Given the description of an element on the screen output the (x, y) to click on. 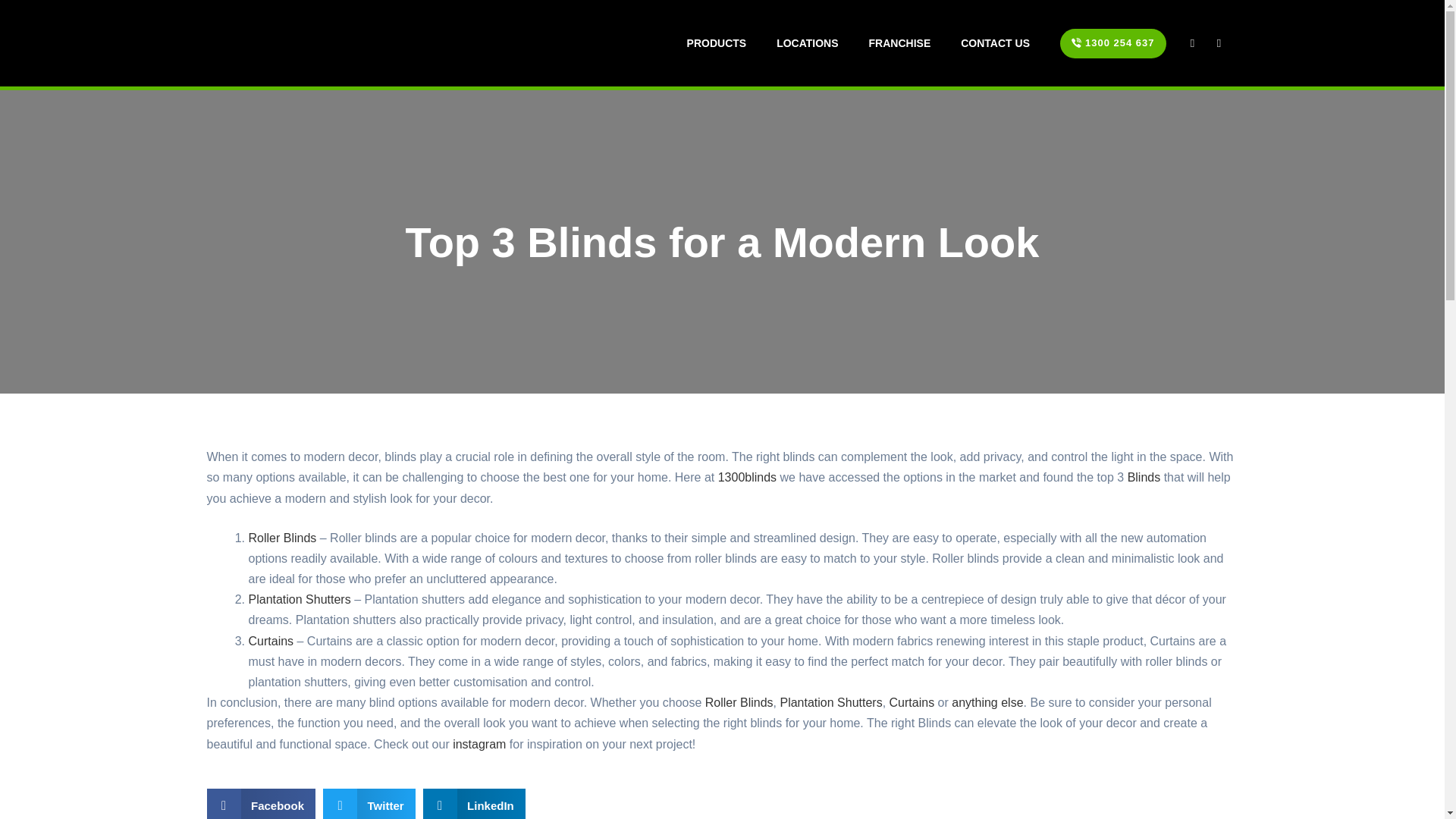
LOCATIONS (807, 42)
PRODUCTS (716, 42)
